Given the description of an element on the screen output the (x, y) to click on. 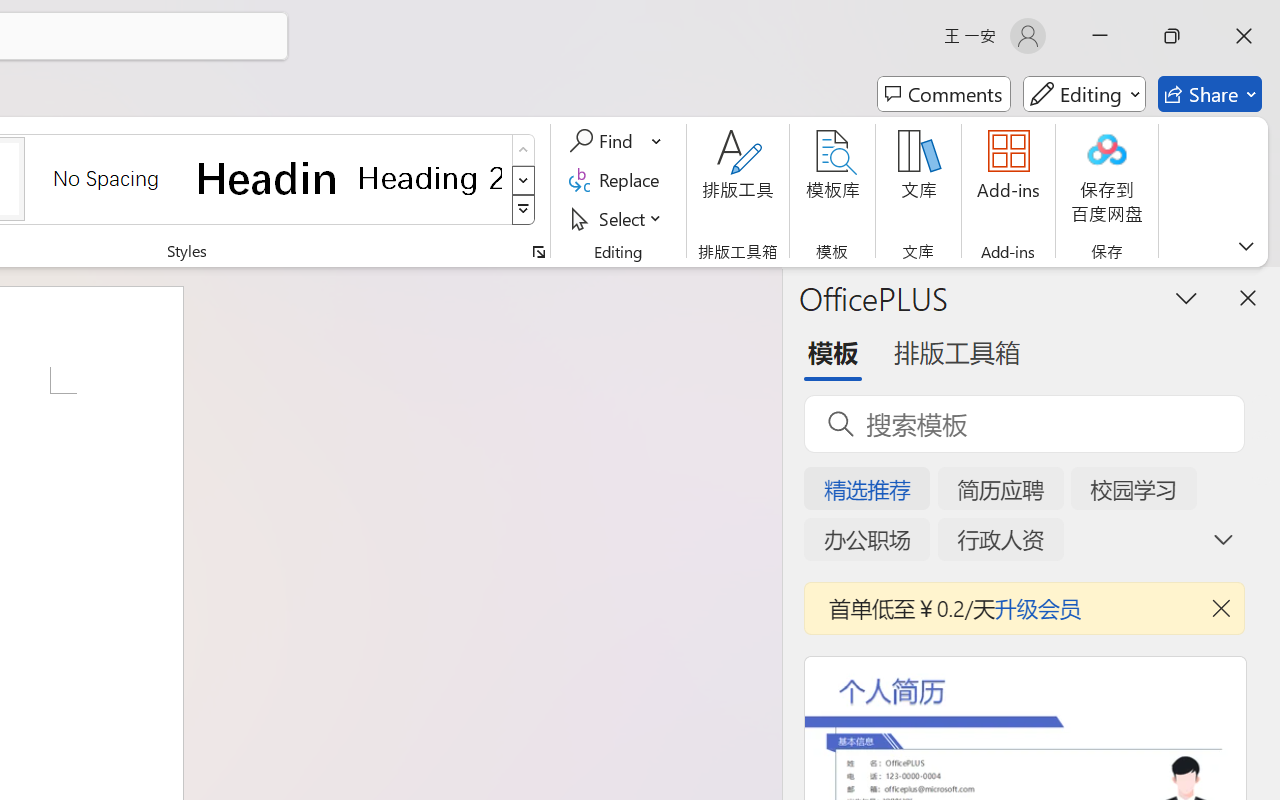
Row up (523, 150)
Class: NetUIImage (523, 210)
Mode (1083, 94)
